Given the description of an element on the screen output the (x, y) to click on. 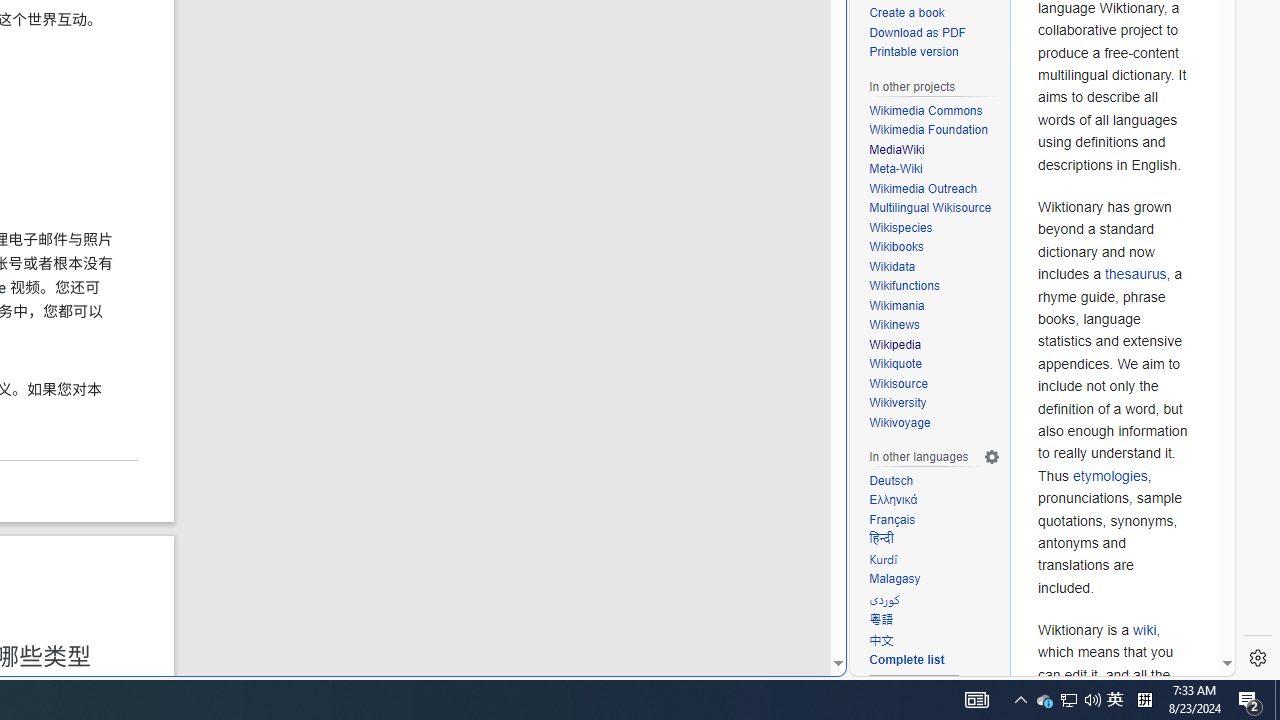
Wikinews (894, 325)
Download as PDF (934, 33)
Wikimedia Outreach (923, 187)
Meta-Wiki (895, 169)
Download as PDF (917, 32)
Wikinews (934, 326)
Wikifunctions (904, 286)
Wikimedia Foundation (928, 130)
Wikibooks (896, 246)
Deutsch (934, 480)
Wikivoyage (934, 423)
